Given the description of an element on the screen output the (x, y) to click on. 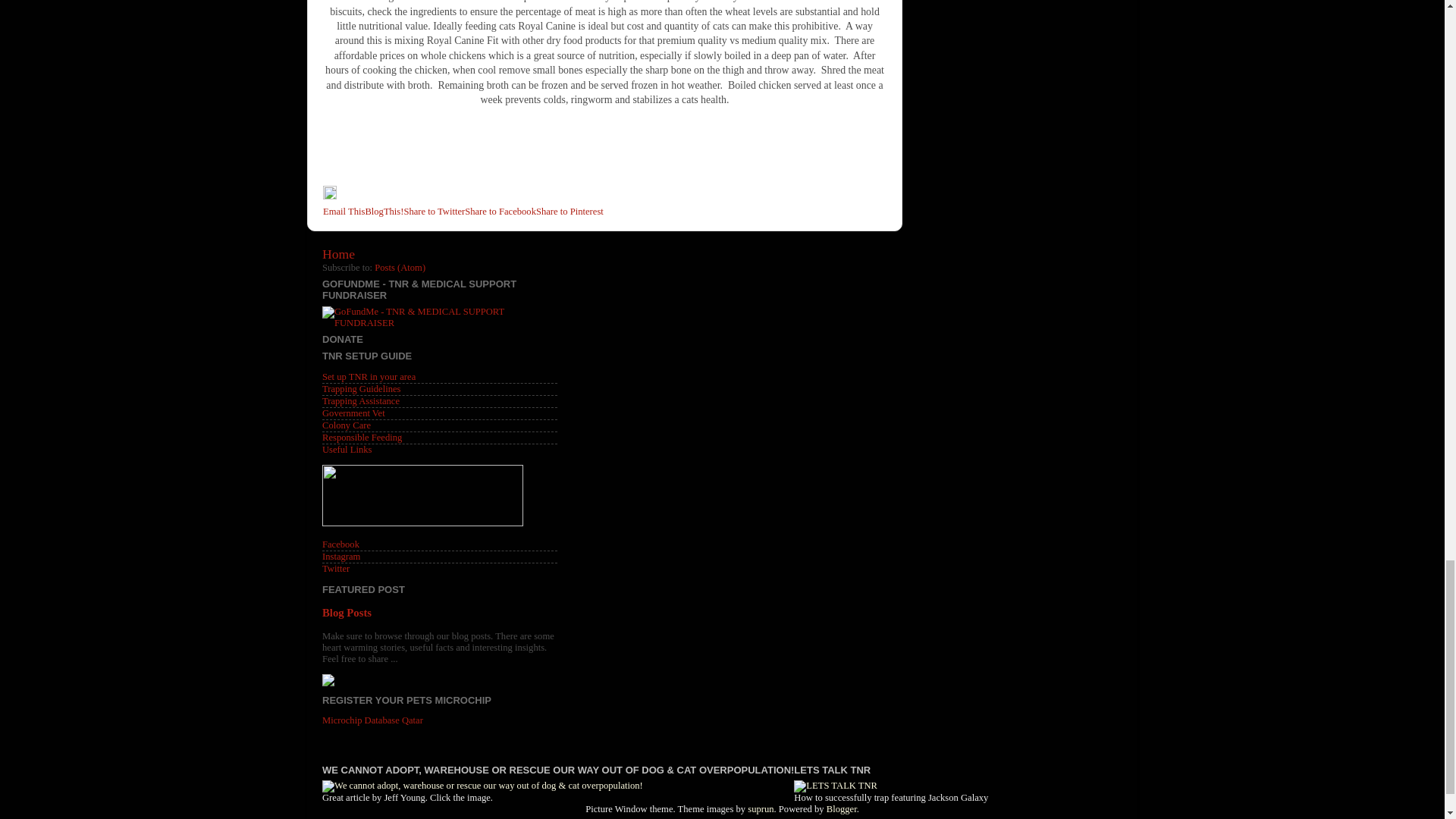
Email This (344, 211)
Set up TNR in your area (367, 376)
Share to Facebook (499, 211)
Share to Facebook (499, 211)
Share to Twitter (433, 211)
Share to Pinterest (569, 211)
Facebook (340, 543)
Responsible Feeding (361, 437)
Share to Twitter (433, 211)
Blog Posts (346, 612)
Twitter (335, 568)
Useful Links (346, 449)
Email This (344, 211)
BlogThis! (384, 211)
Share to Pinterest (569, 211)
